Given the description of an element on the screen output the (x, y) to click on. 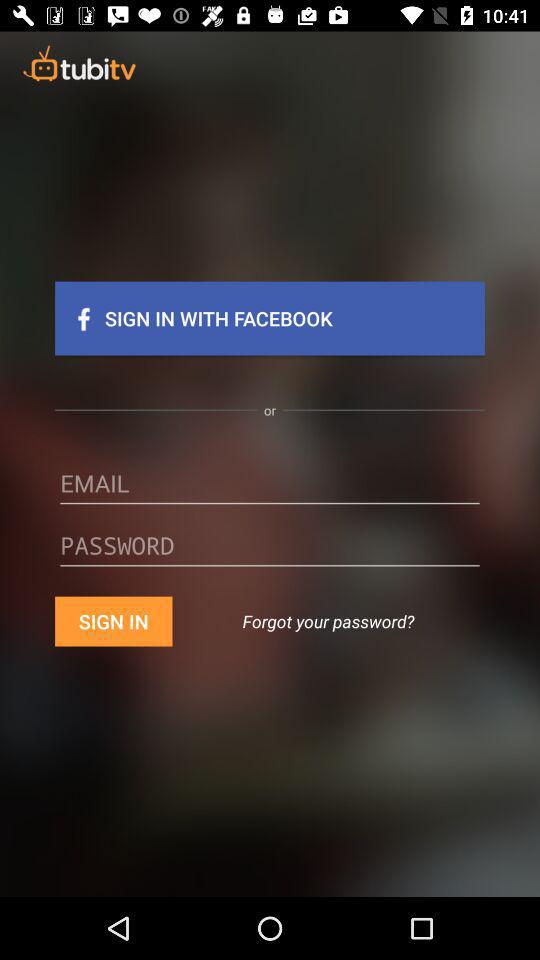
enter email (269, 489)
